Given the description of an element on the screen output the (x, y) to click on. 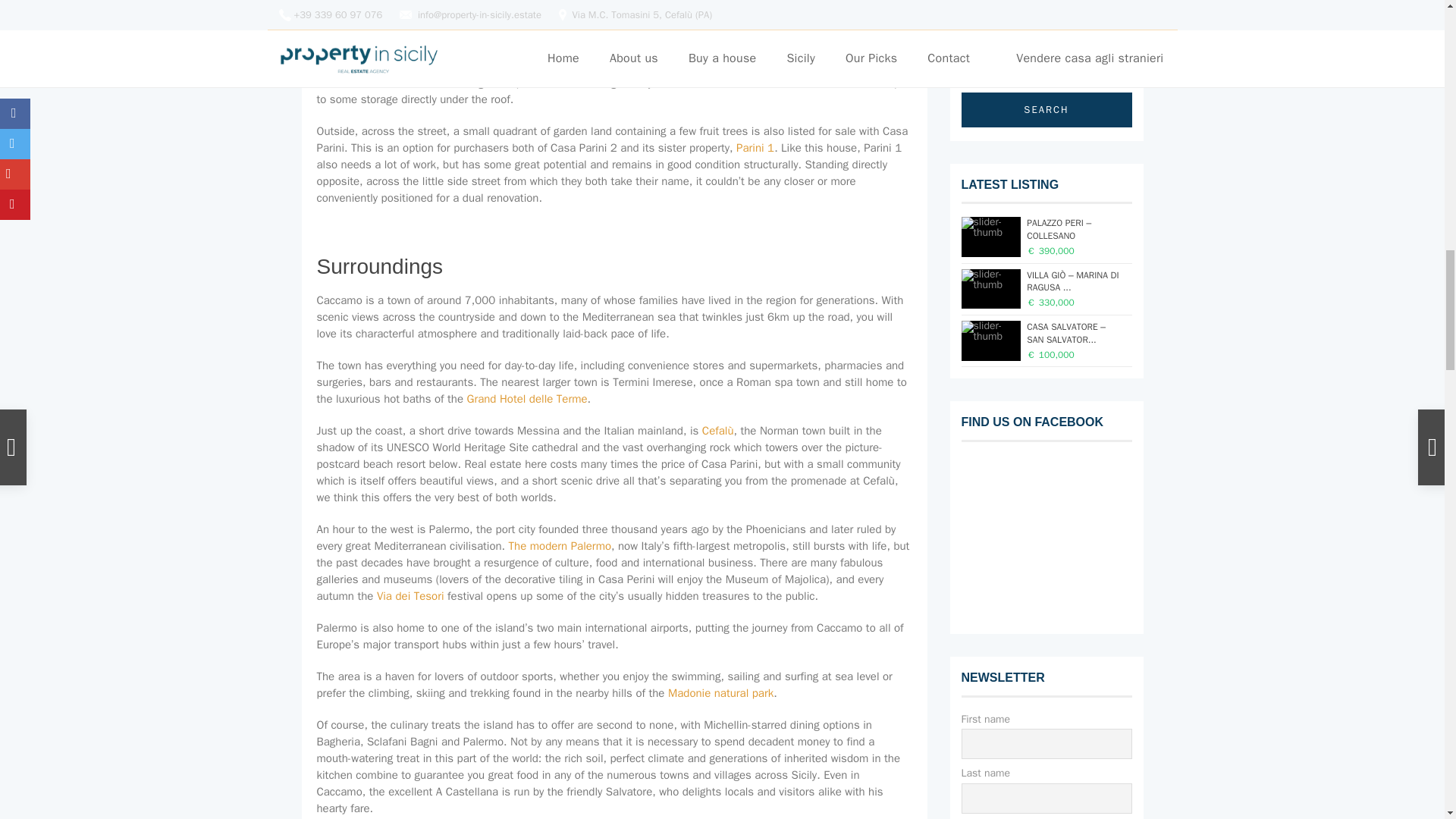
SEND (1046, 2)
